Given the description of an element on the screen output the (x, y) to click on. 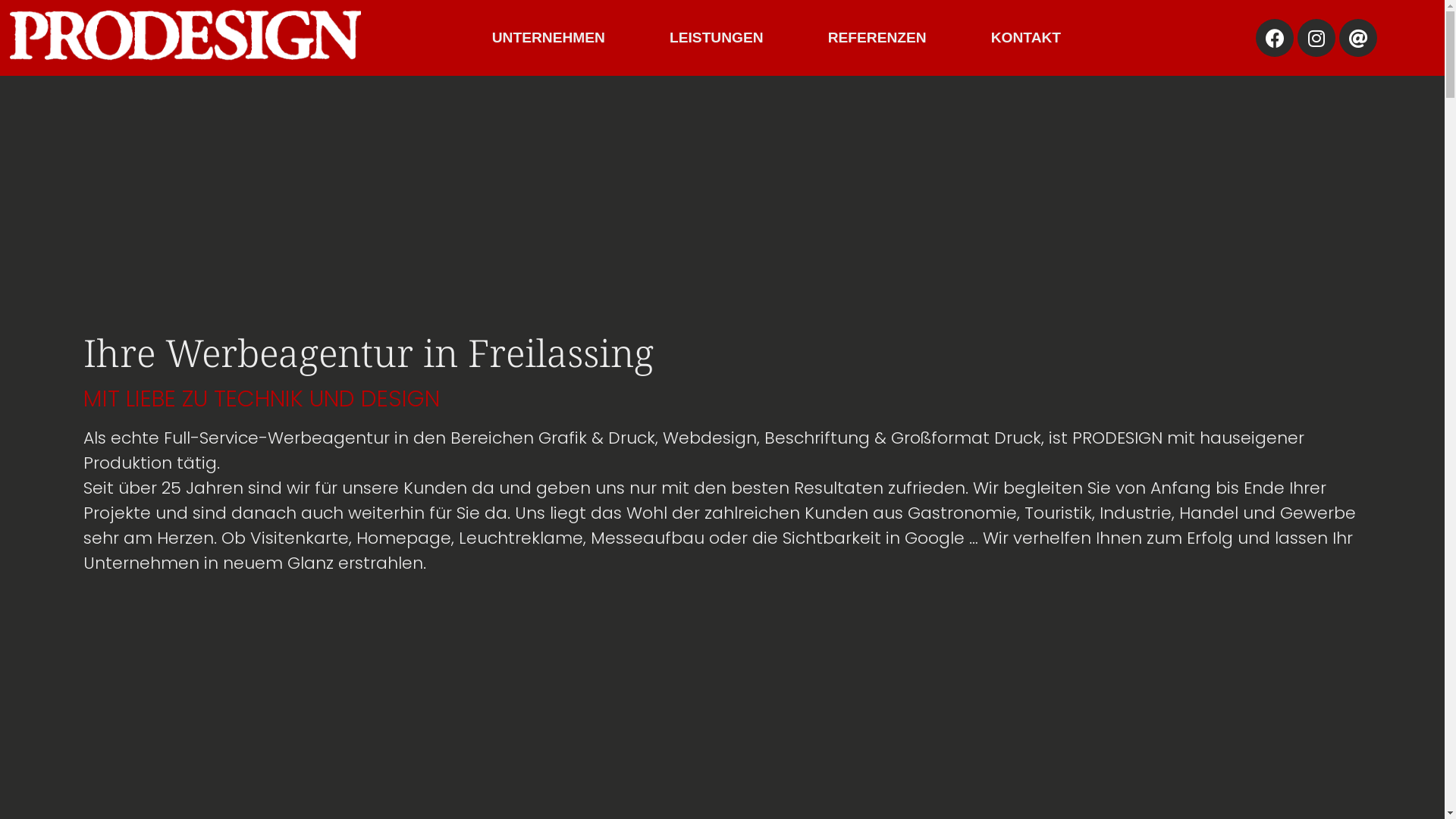
KONTAKT Element type: text (1025, 37)
LEISTUNGEN Element type: text (716, 37)
UNTERNEHMEN Element type: text (548, 37)
REFERENZEN Element type: text (876, 37)
